Given the description of an element on the screen output the (x, y) to click on. 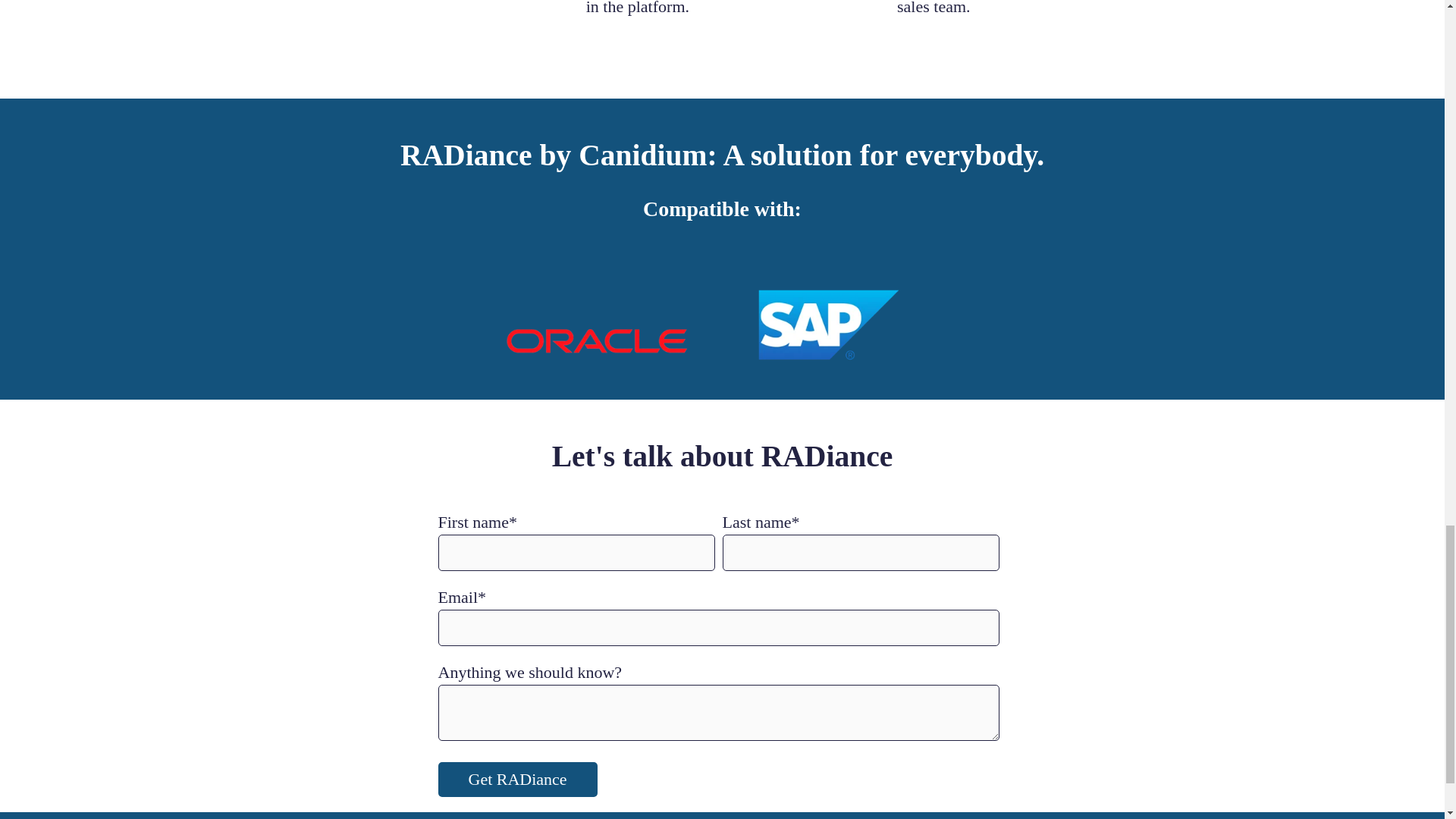
Get RADiance (517, 779)
image-removebg-previeworacle (596, 337)
Get RADiance (517, 779)
